Given the description of an element on the screen output the (x, y) to click on. 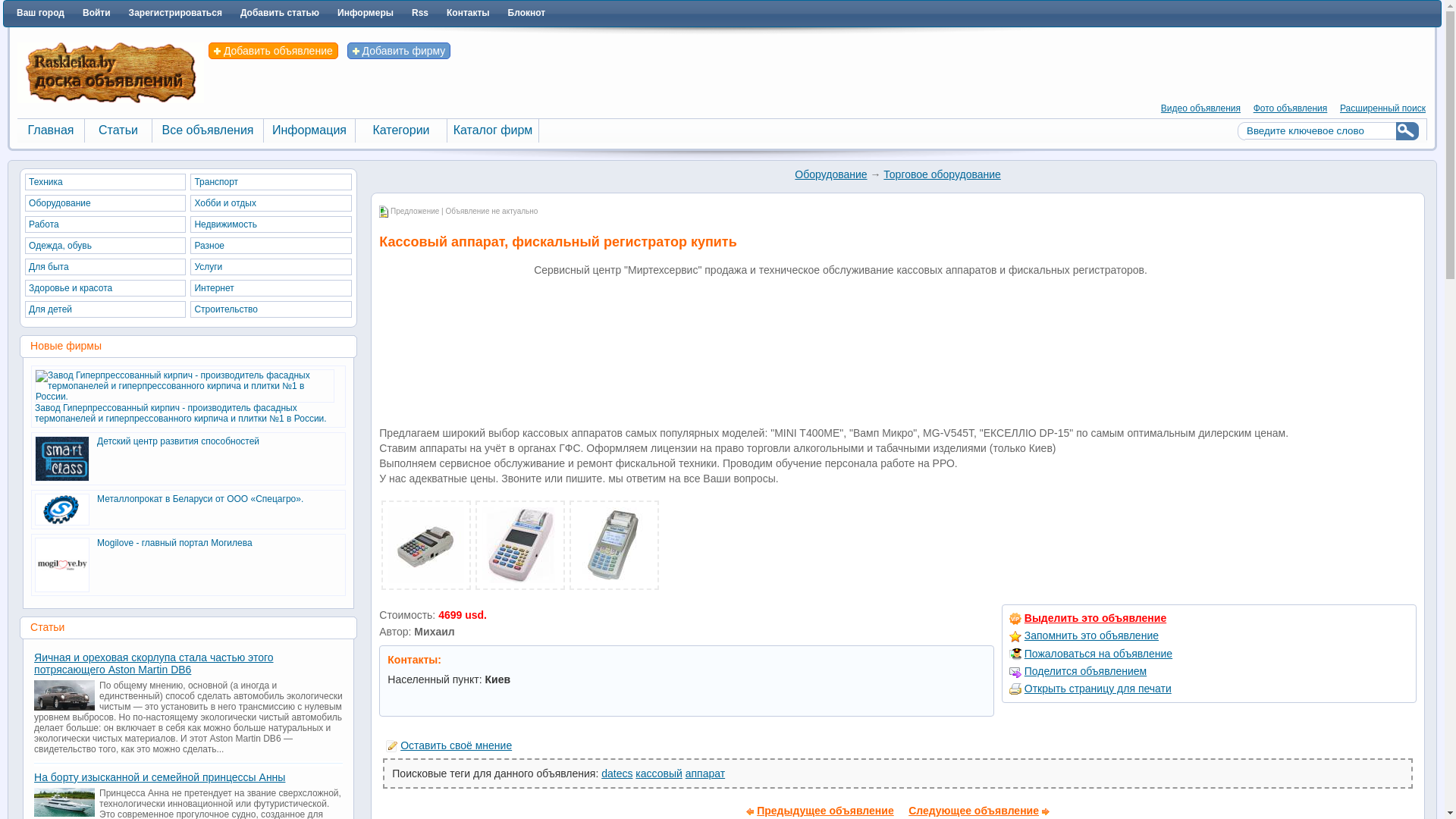
datecs Element type: text (616, 773)
Advertisement Element type: hover (454, 349)
Rss Element type: text (419, 12)
